Given the description of an element on the screen output the (x, y) to click on. 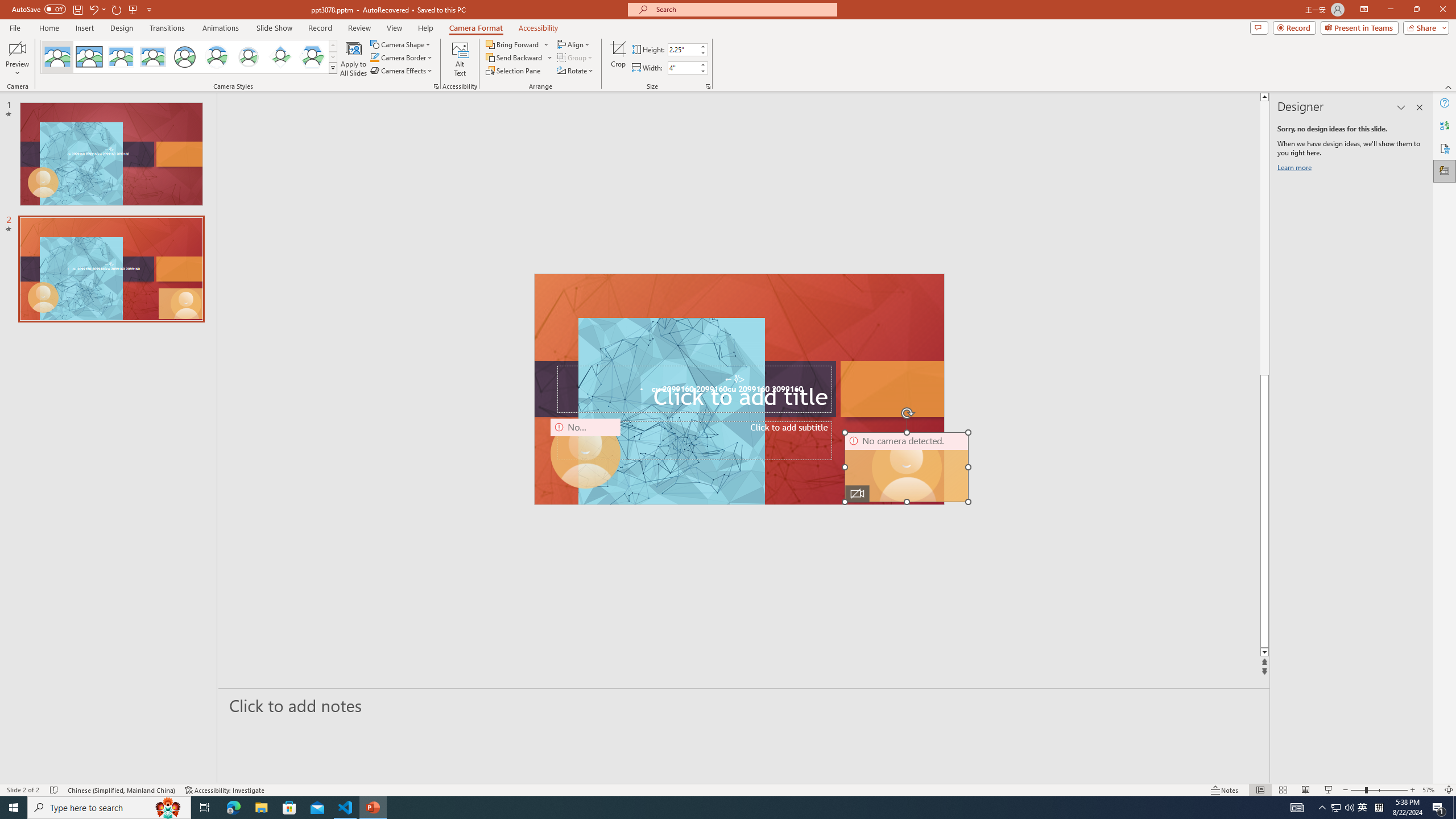
Slide Notes (743, 705)
Translator (1444, 125)
Simple Frame Circle (184, 56)
Simple Frame Rectangle (88, 56)
Apply to All Slides (353, 58)
Size and Position... (707, 85)
Alt Text (459, 58)
Camera 11, No camera detected. (906, 466)
Learn more (1295, 169)
